Given the description of an element on the screen output the (x, y) to click on. 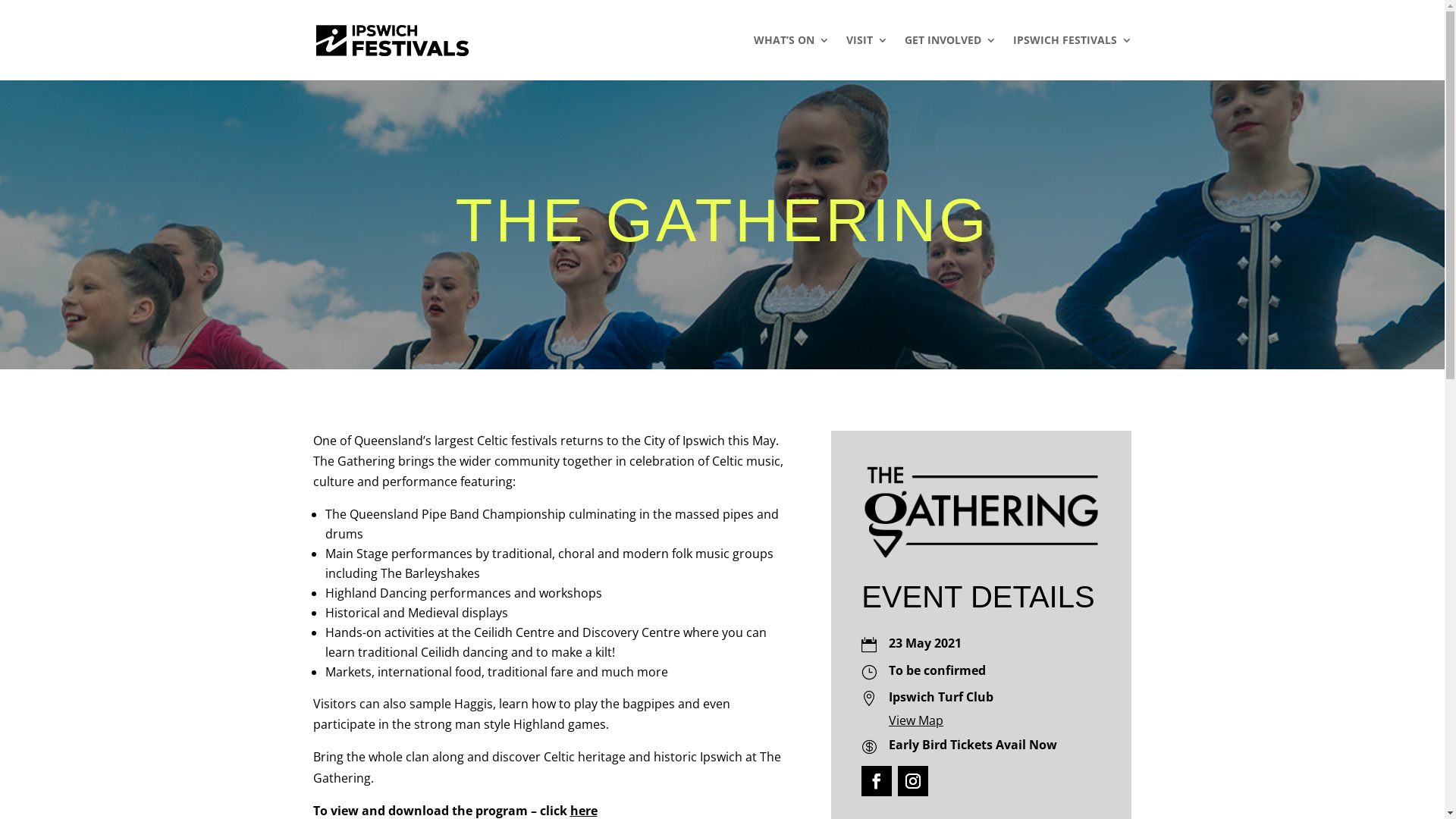
IPSWICH FESTIVALS Element type: text (1072, 57)
Follow on Instagram Element type: hover (912, 780)
View Map Element type: text (915, 720)
Follow on Facebook Element type: hover (876, 780)
GET INVOLVED Element type: text (949, 57)
VISIT Element type: text (867, 57)
